Given the description of an element on the screen output the (x, y) to click on. 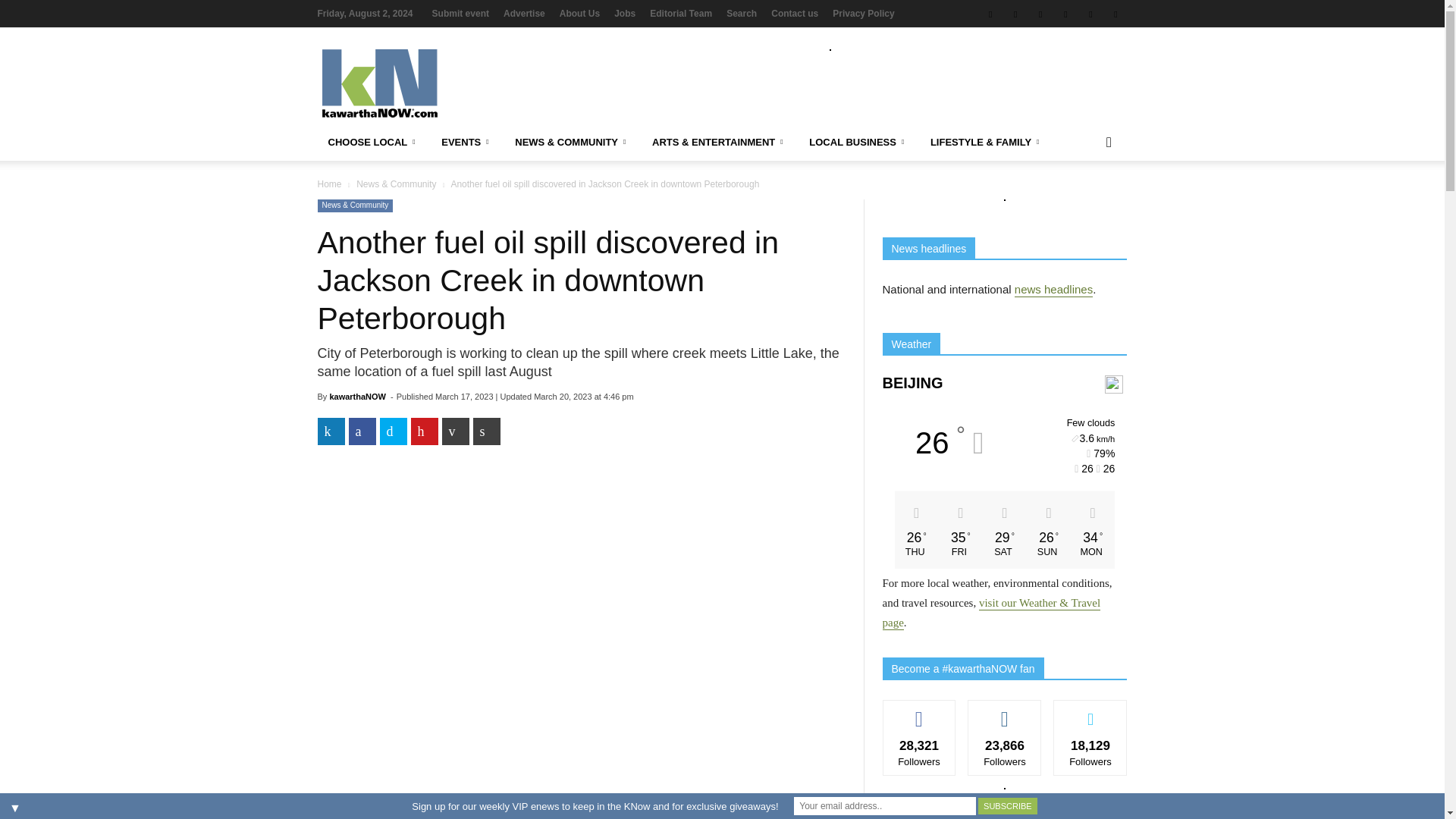
Twitter (1040, 13)
Facebook (989, 13)
RSS (1114, 13)
About Us (579, 13)
Subscribe (1007, 805)
Search (741, 13)
Linkedin (1065, 13)
Instagram (1015, 13)
Privacy Policy (862, 13)
Editorial Team (680, 13)
Pinterest (1090, 13)
Submit event (460, 13)
kawarthaNOW.com (424, 83)
Advertise (523, 13)
Jobs (624, 13)
